Given the description of an element on the screen output the (x, y) to click on. 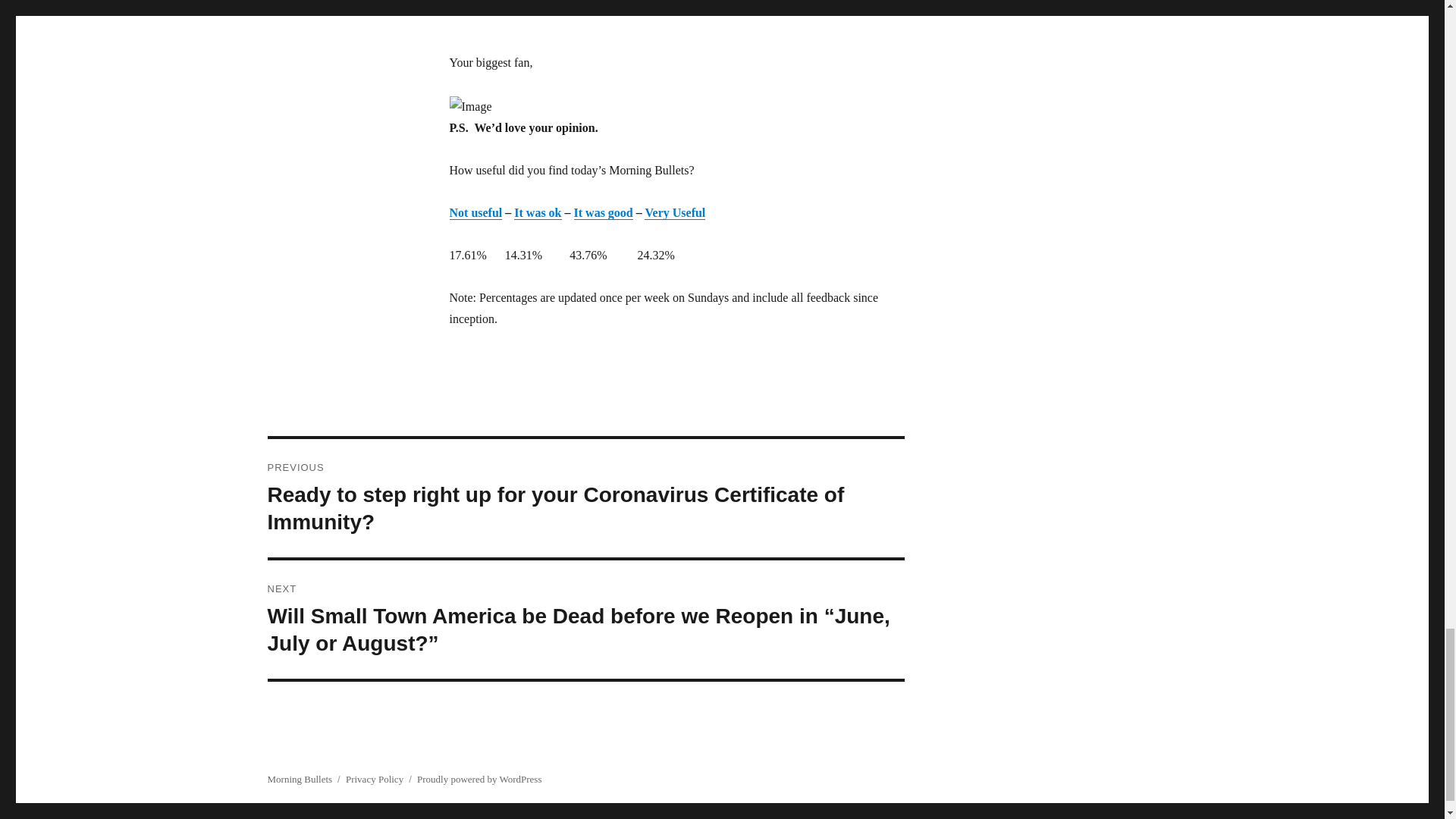
It was good (603, 212)
Not useful (475, 212)
Very Useful (674, 212)
Image (470, 106)
It was ok (536, 212)
